Given the description of an element on the screen output the (x, y) to click on. 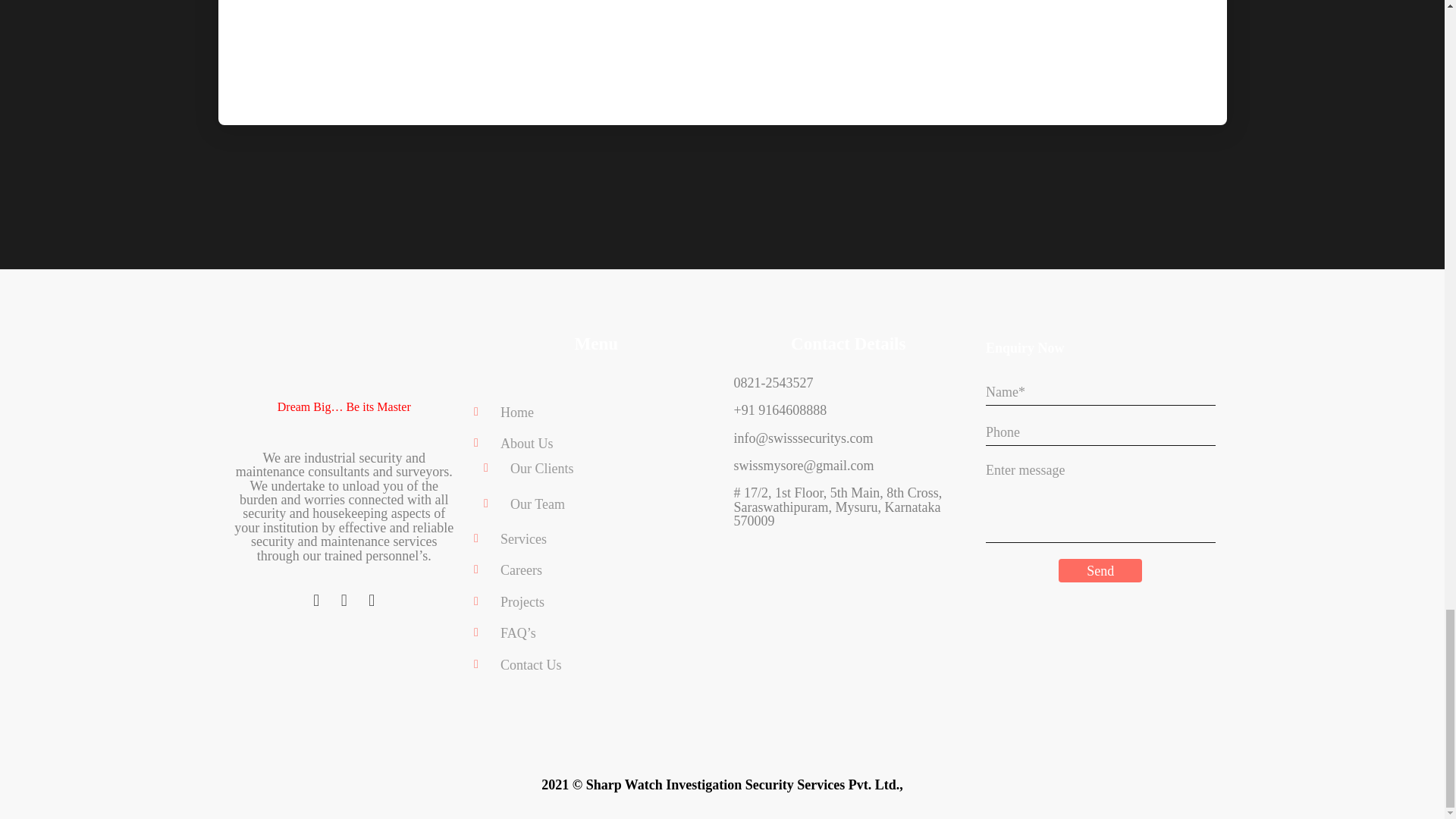
Send (1099, 570)
